Given the description of an element on the screen output the (x, y) to click on. 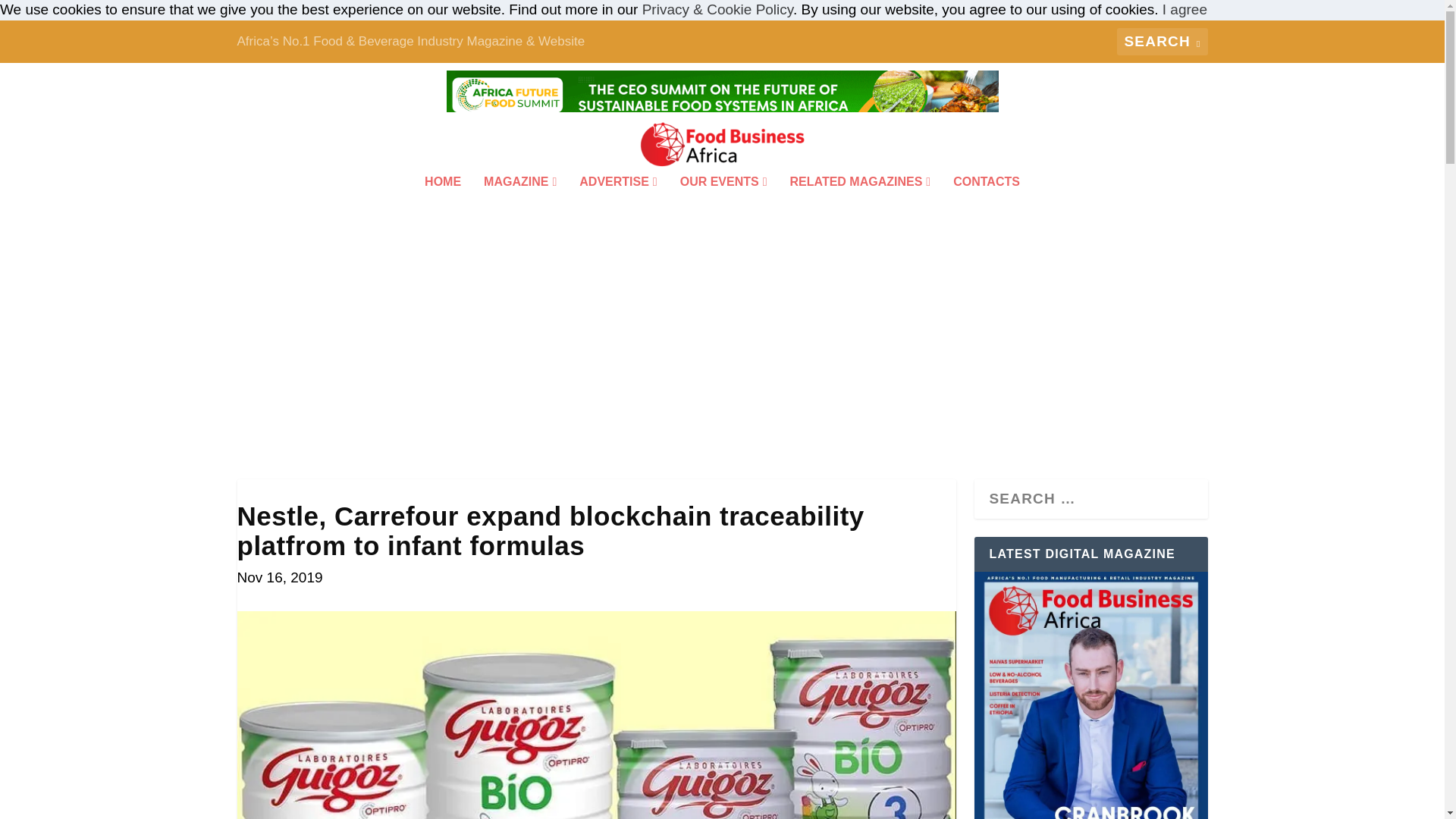
OUR EVENTS (723, 202)
Search for: (1161, 41)
RELATED MAGAZINES (860, 202)
CONTACTS (986, 202)
ADVERTISE (617, 202)
I agree (1184, 9)
LATEST DIGITAL MAGAZINE (1090, 695)
MAGAZINE (519, 202)
